Given the description of an element on the screen output the (x, y) to click on. 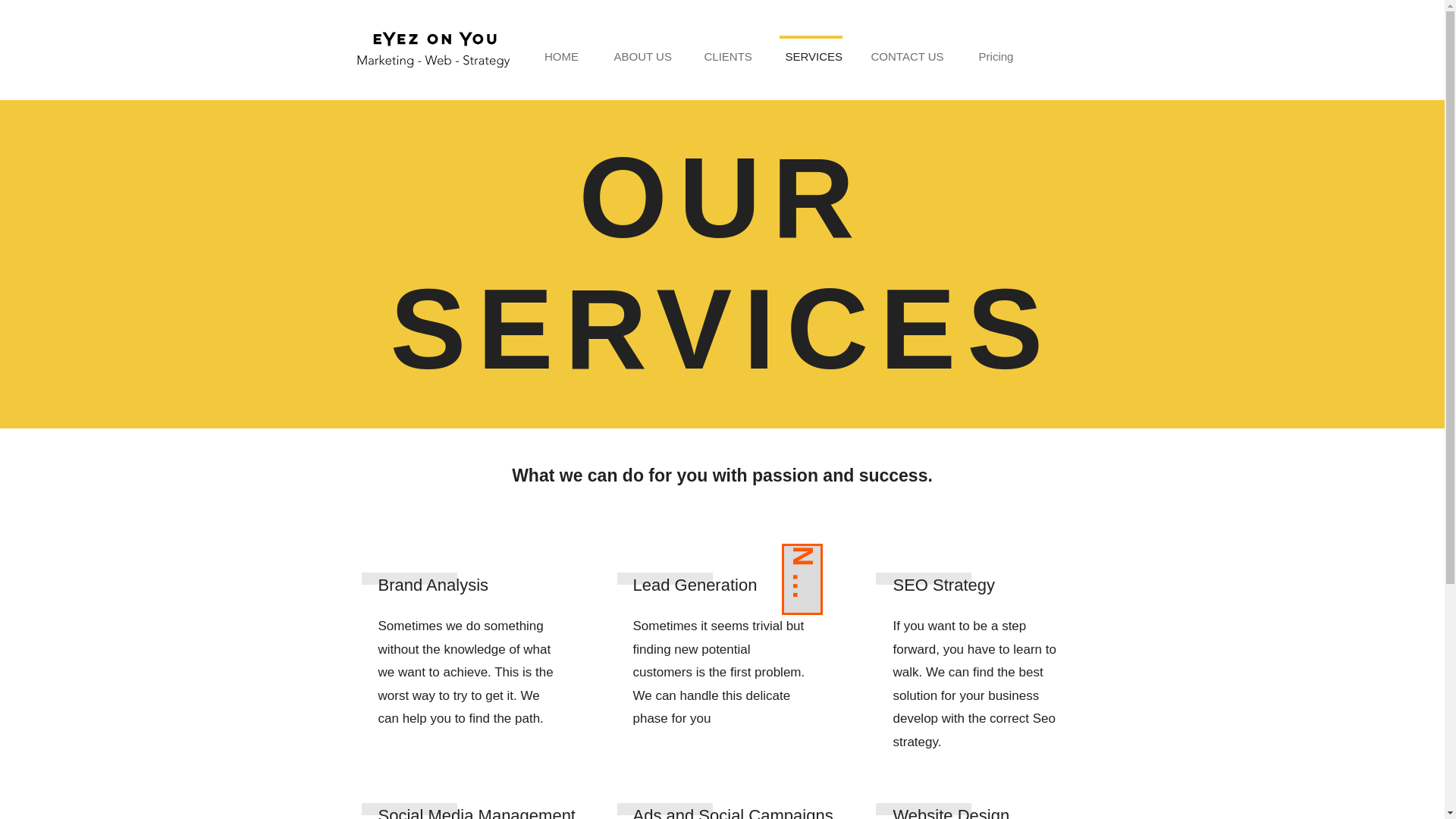
CLIENTS (727, 50)
ABOUT US (640, 50)
CONTACT US (906, 50)
HOME (560, 50)
SERVICES (810, 50)
Pricing (995, 50)
NEW (815, 563)
